Given the description of an element on the screen output the (x, y) to click on. 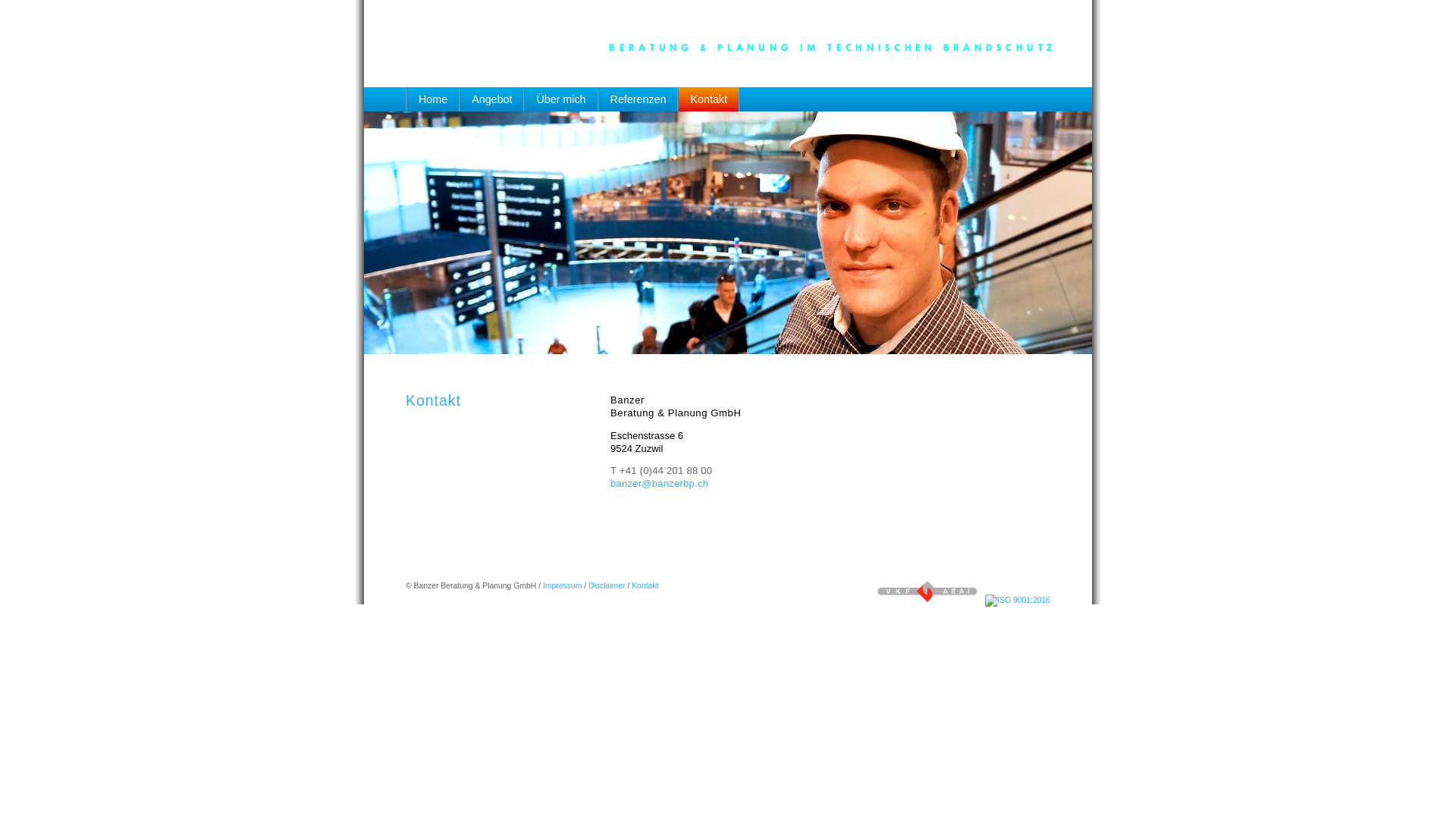
Kontakt Element type: text (644, 585)
Home Element type: text (432, 103)
Impressum Element type: text (561, 585)
banzer@banzerbp.ch Element type: text (659, 483)
Disclaimer Element type: text (606, 585)
Referenzen Element type: text (638, 103)
  Element type: text (739, 86)
Angebot Element type: text (492, 103)
